Given the description of an element on the screen output the (x, y) to click on. 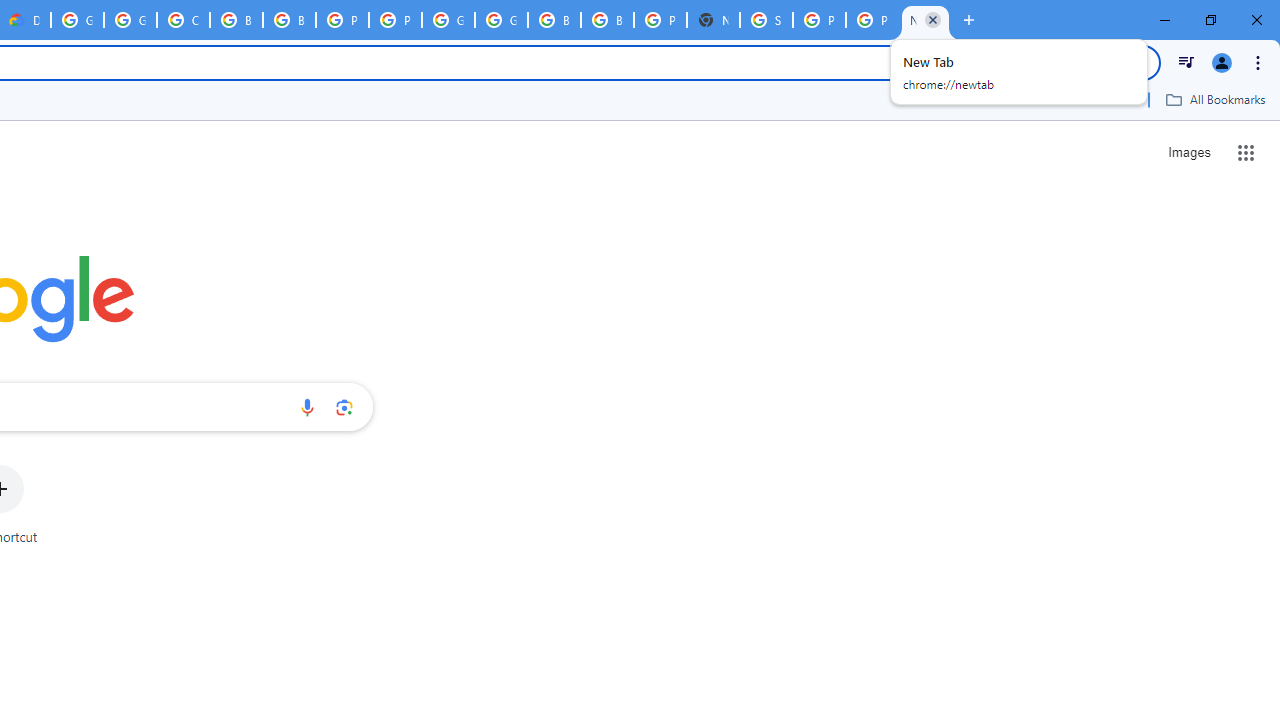
Google Cloud Platform (77, 20)
New Tab (925, 20)
Browse Chrome as a guest - Computer - Google Chrome Help (235, 20)
Google Cloud Platform (501, 20)
Sign in - Google Accounts (766, 20)
New Tab (713, 20)
